Given the description of an element on the screen output the (x, y) to click on. 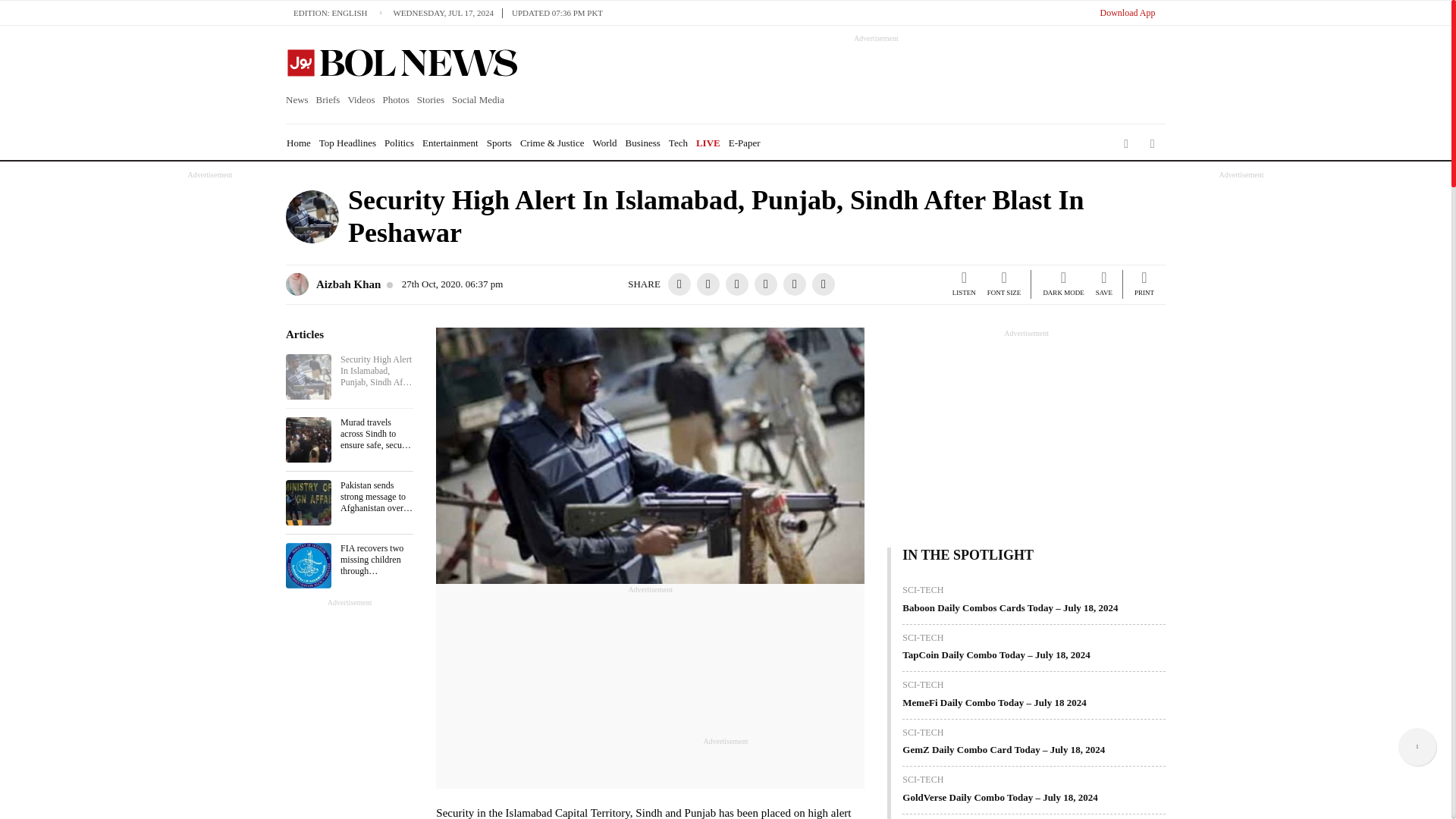
Advertisement (862, 78)
Entertainment (450, 143)
bookmark article (1104, 285)
Advertisement (725, 780)
Videos (360, 99)
LIVE (707, 143)
Home (298, 143)
Social Media (478, 99)
Advertisement (1240, 407)
Advertisement (209, 407)
Sports (499, 143)
World (603, 143)
News (299, 99)
Download App (1127, 12)
Stories (430, 99)
